Given the description of an element on the screen output the (x, y) to click on. 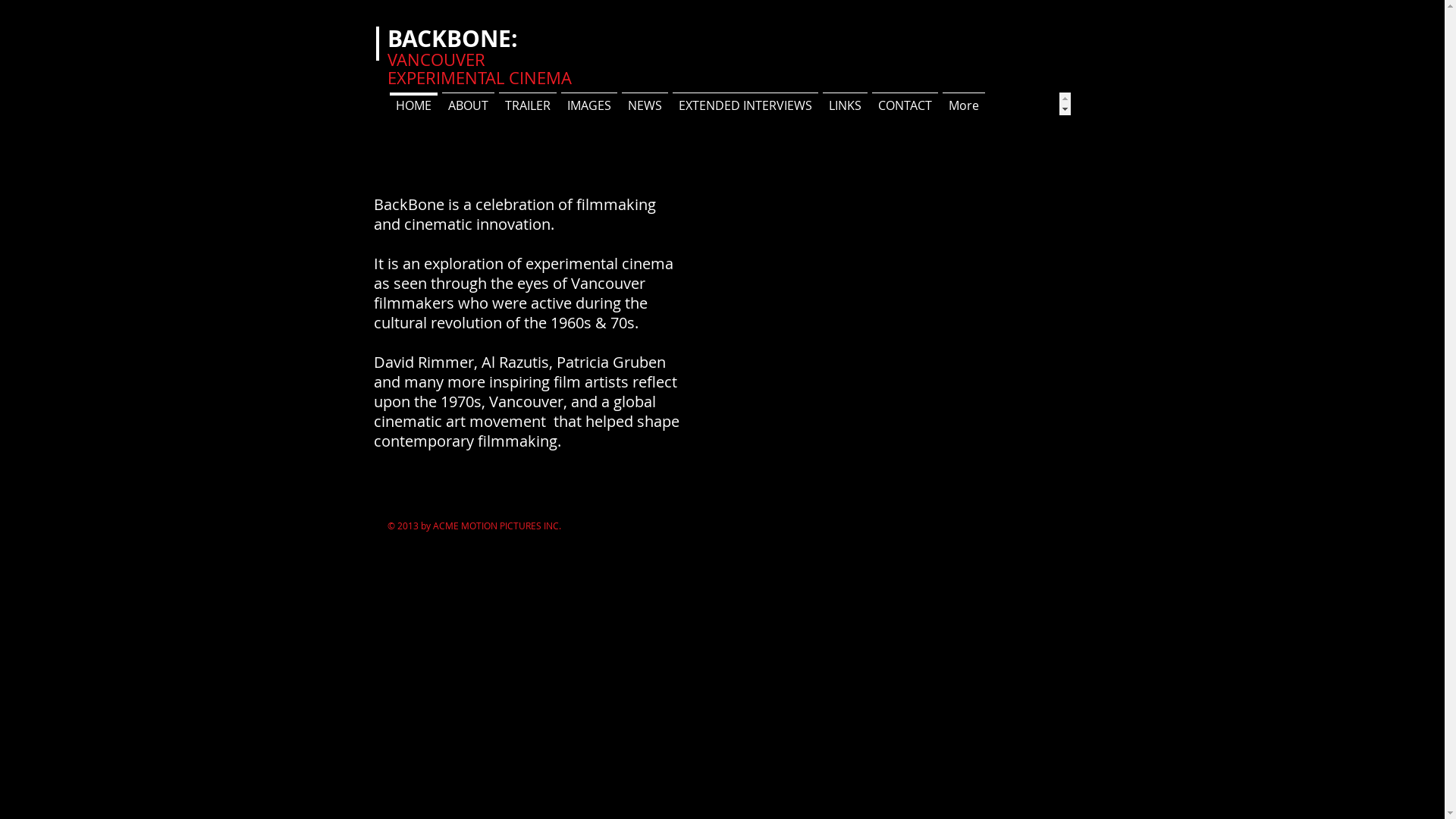
TRAILER Element type: text (526, 103)
ABOUT Element type: text (467, 103)
IMAGES Element type: text (588, 103)
EXTENDED INTERVIEWS Element type: text (745, 103)
CONTACT Element type: text (904, 103)
HOME Element type: text (412, 103)
Backbone Element type: hover (884, 332)
NEWS Element type: text (643, 103)
LINKS Element type: text (844, 103)
